Given the description of an element on the screen output the (x, y) to click on. 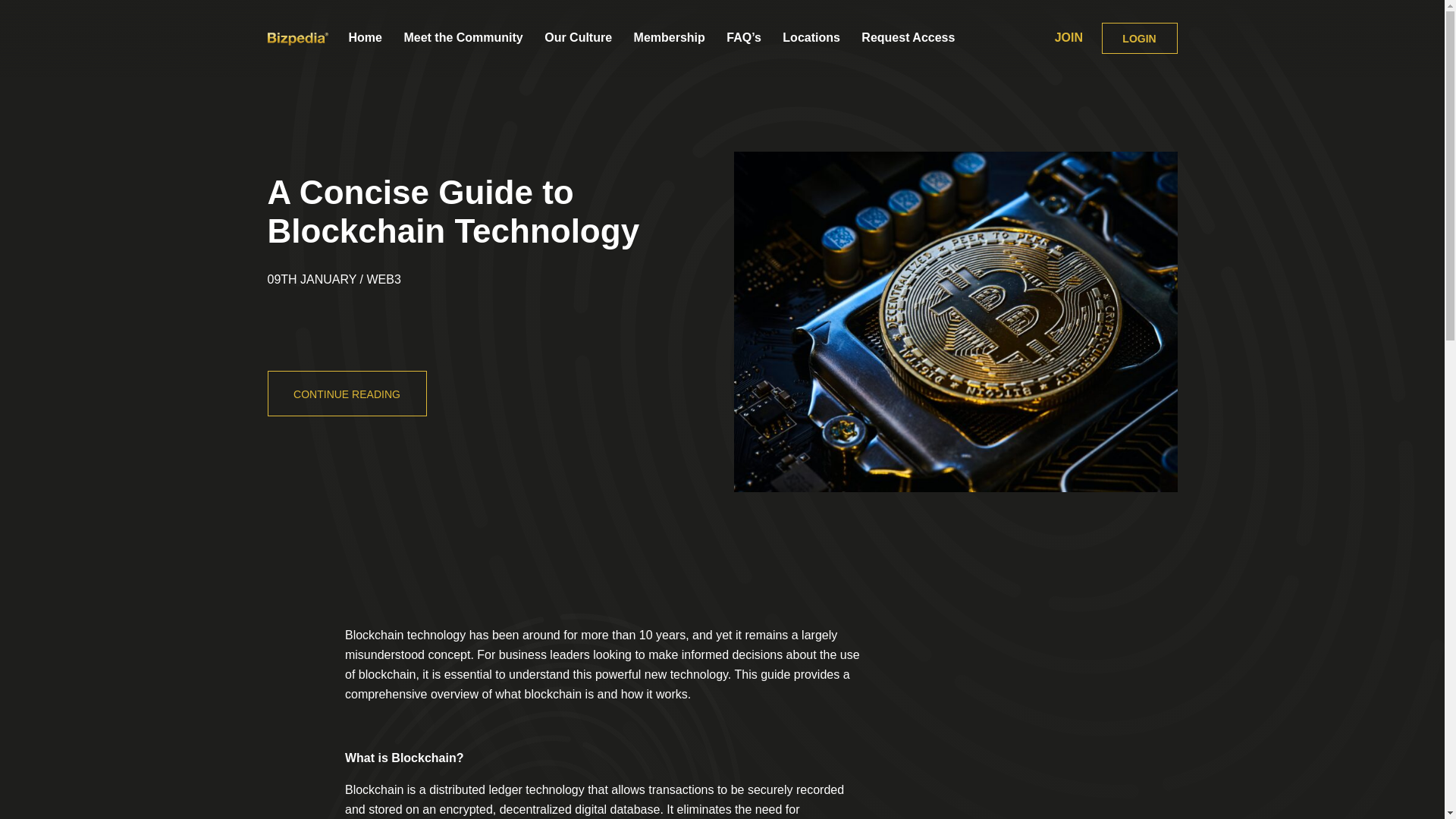
Our Culture (577, 37)
Locations (811, 37)
LOGIN (1138, 38)
JOIN (1068, 38)
Home (365, 37)
Membership (668, 37)
WEB3 (383, 278)
LOGIN (1138, 38)
CONTINUE READING (346, 393)
Request Access (908, 37)
